Given the description of an element on the screen output the (x, y) to click on. 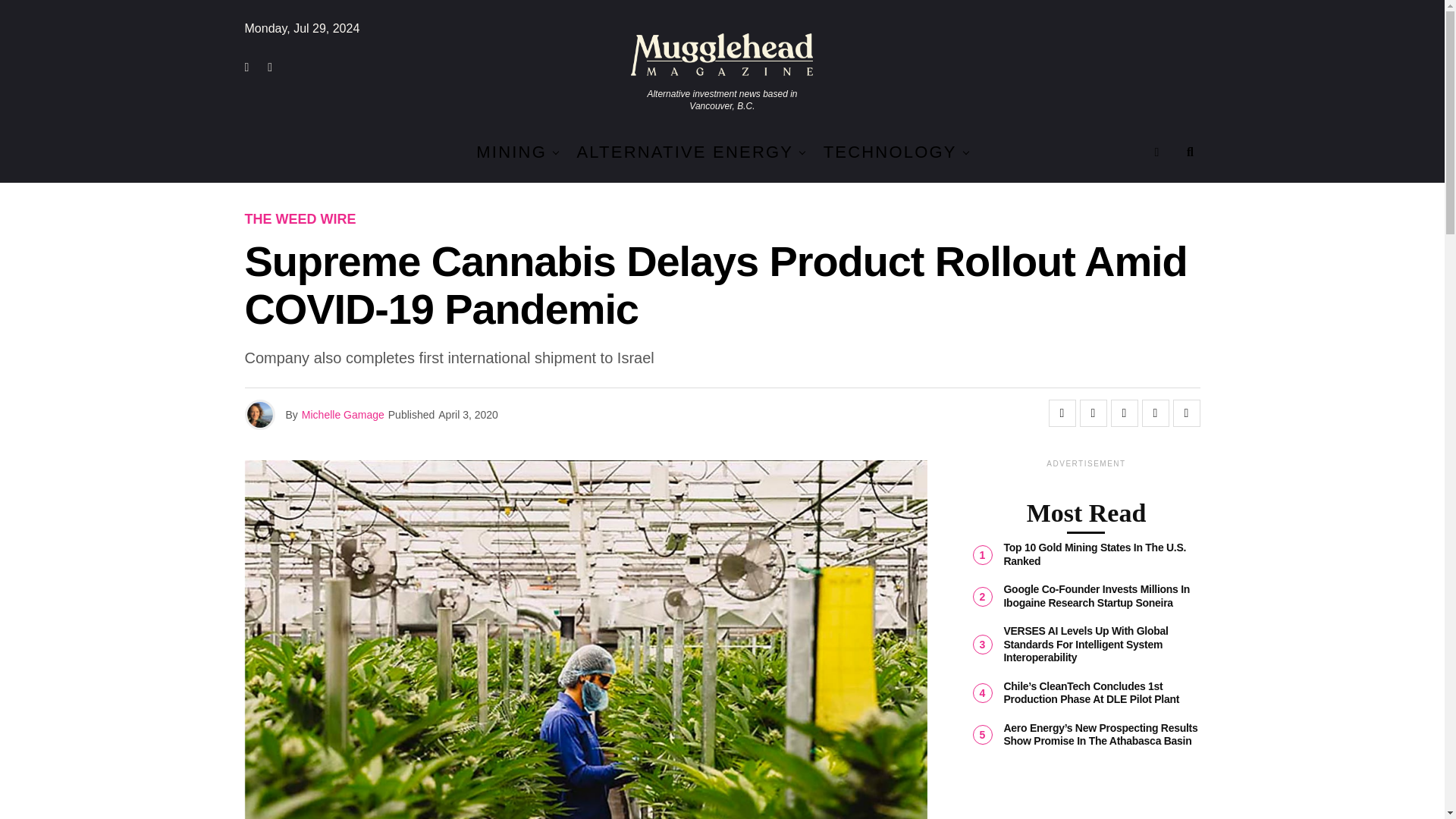
Share on Facebook (1061, 412)
ALTERNATIVE ENERGY (684, 152)
Share on Flipboard (1123, 412)
Posts by Michelle Gamage (342, 414)
Tweet This Post (1093, 412)
MINING (511, 152)
